Given the description of an element on the screen output the (x, y) to click on. 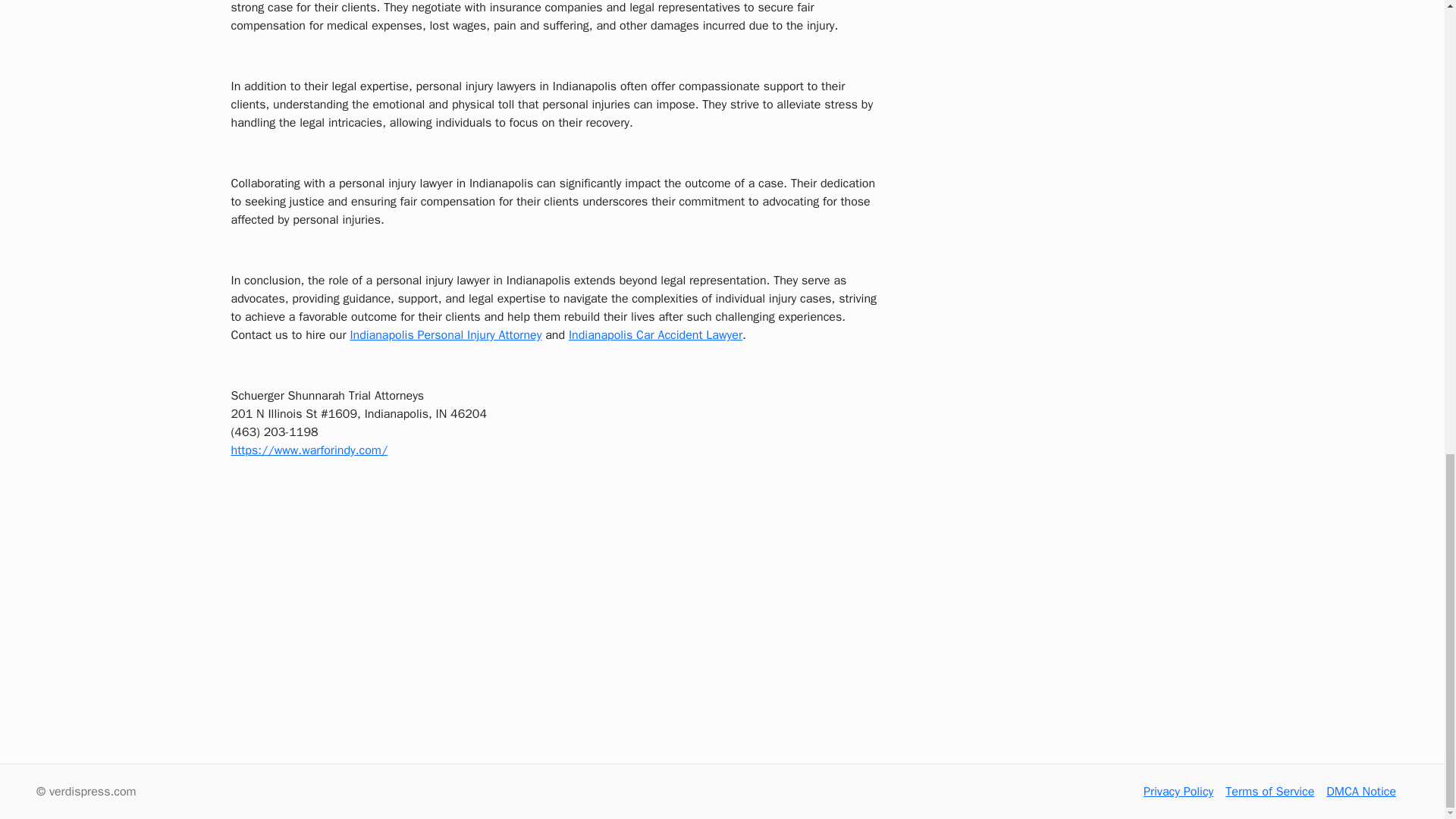
Privacy Policy (1177, 791)
DMCA Notice (1361, 791)
Indianapolis Personal Injury Attorney (445, 335)
Terms of Service (1269, 791)
Indianapolis Car Accident Lawyer (655, 335)
